Given the description of an element on the screen output the (x, y) to click on. 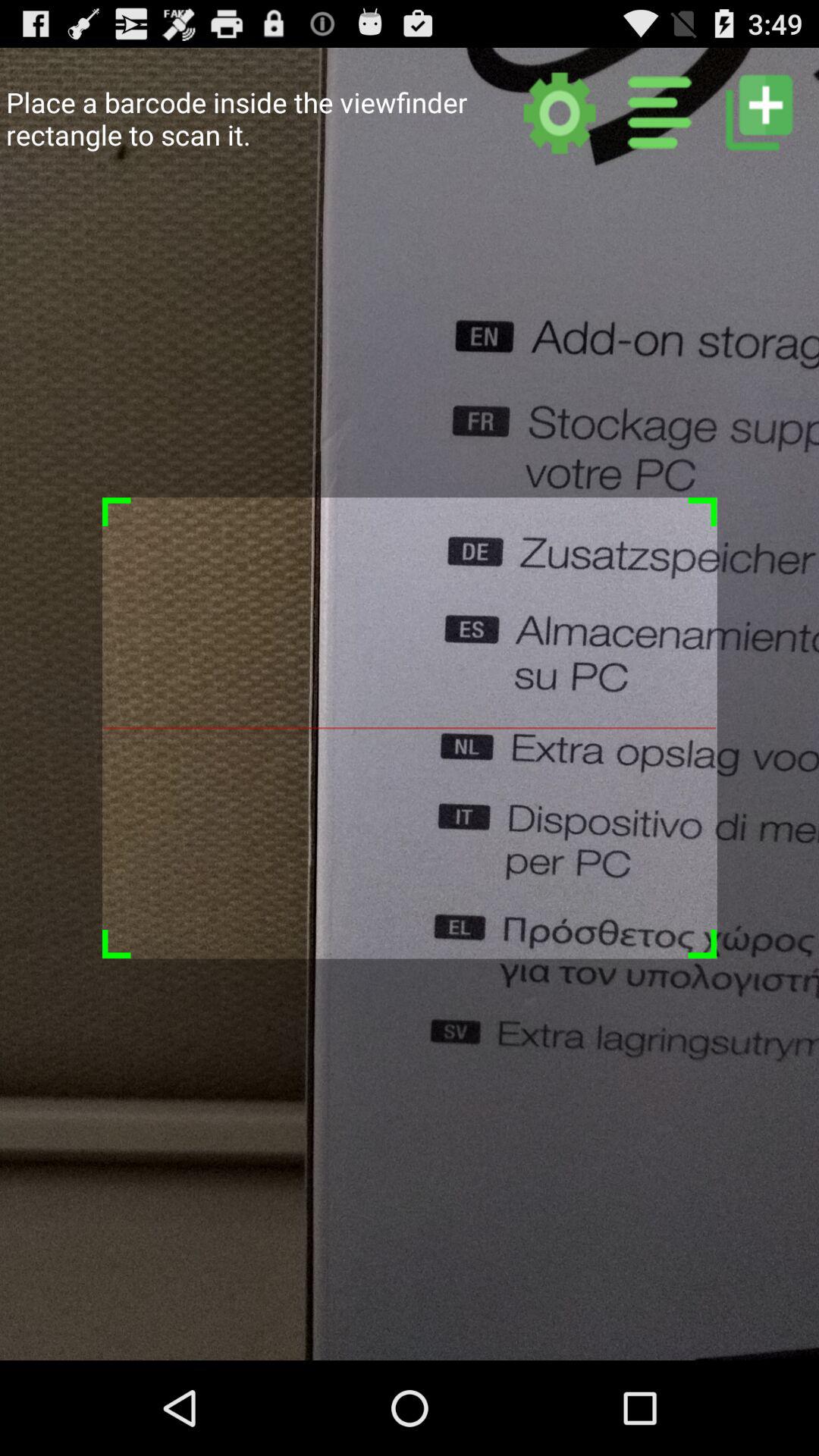
this button in zoom options (759, 112)
